Given the description of an element on the screen output the (x, y) to click on. 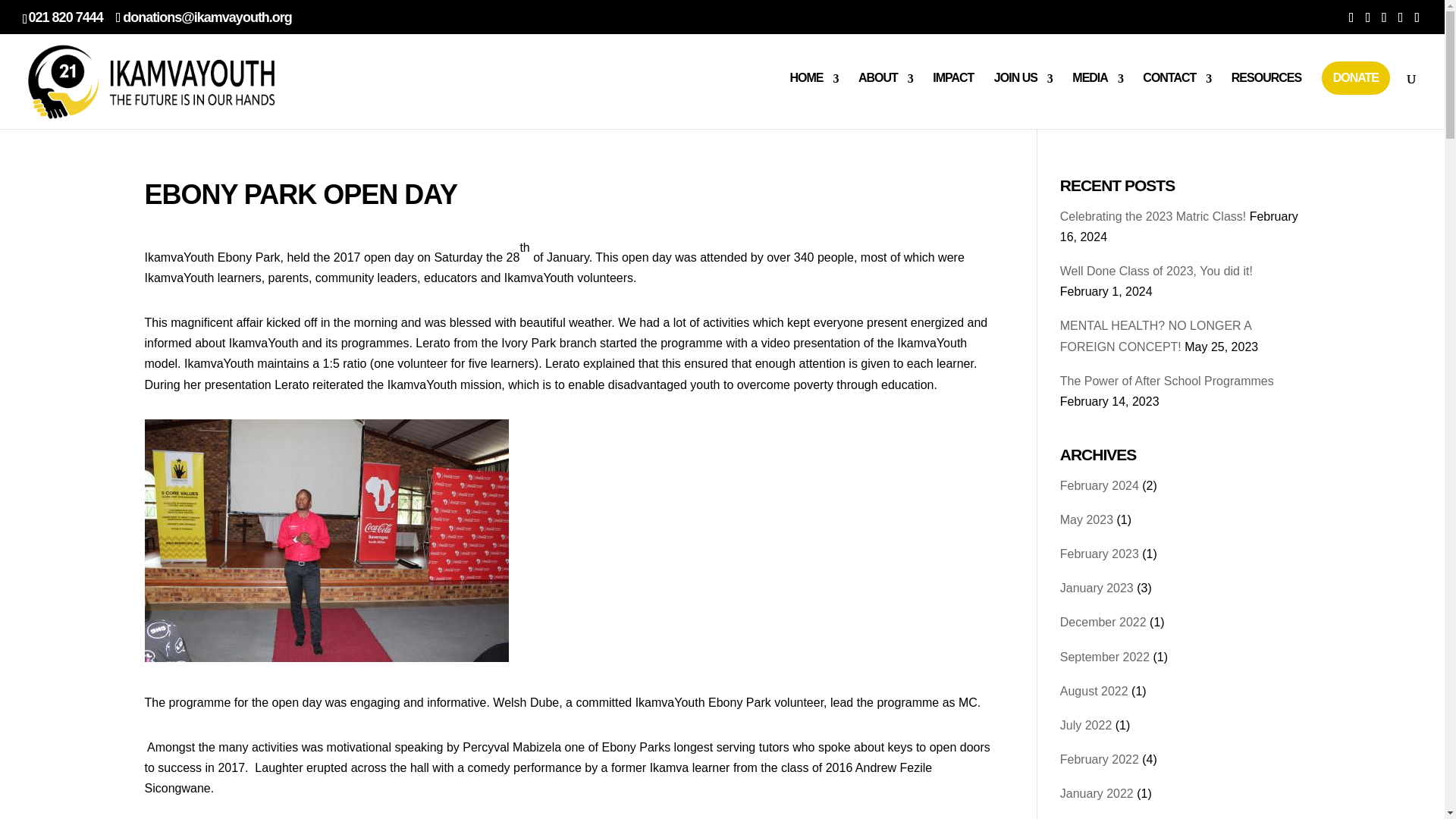
JOIN US (1023, 91)
ABOUT (885, 91)
CONTACT (1176, 91)
DONATE (1356, 78)
RESOURCES (1266, 91)
